Given the description of an element on the screen output the (x, y) to click on. 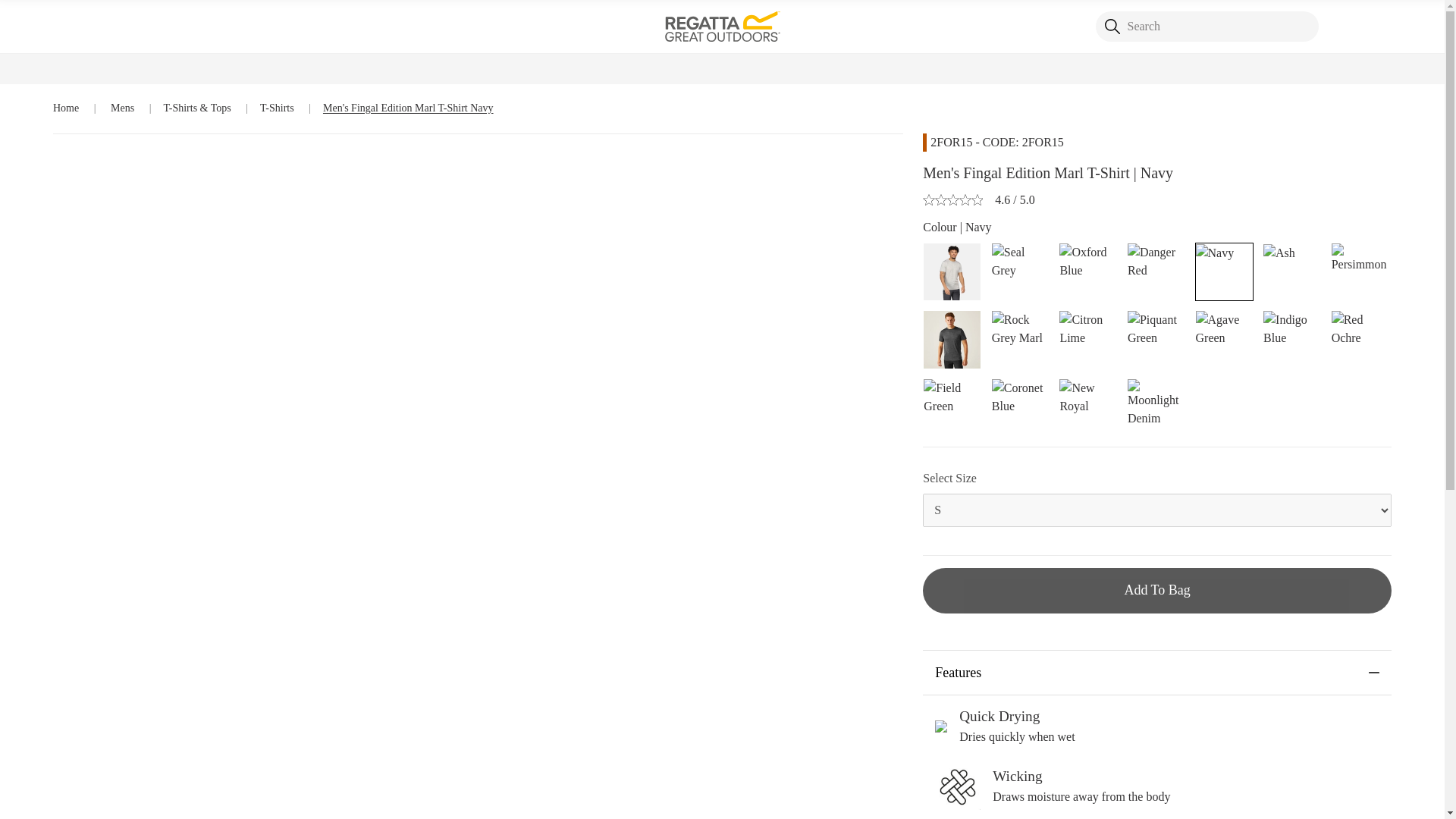
Home (66, 107)
Rock Grey Marl (1019, 327)
Citron Lime  (1087, 327)
Ash  (1279, 251)
Persimmon (1360, 256)
Field Green (951, 395)
Add To Bag (1157, 590)
Oxford Blue (1087, 259)
Red Ochre (1360, 327)
Indigo Blue  (1291, 327)
Danger Red (1155, 259)
Home Page (721, 24)
Features (1157, 672)
Moonlight Denim (1155, 401)
Seal Grey  (1019, 259)
